Given the description of an element on the screen output the (x, y) to click on. 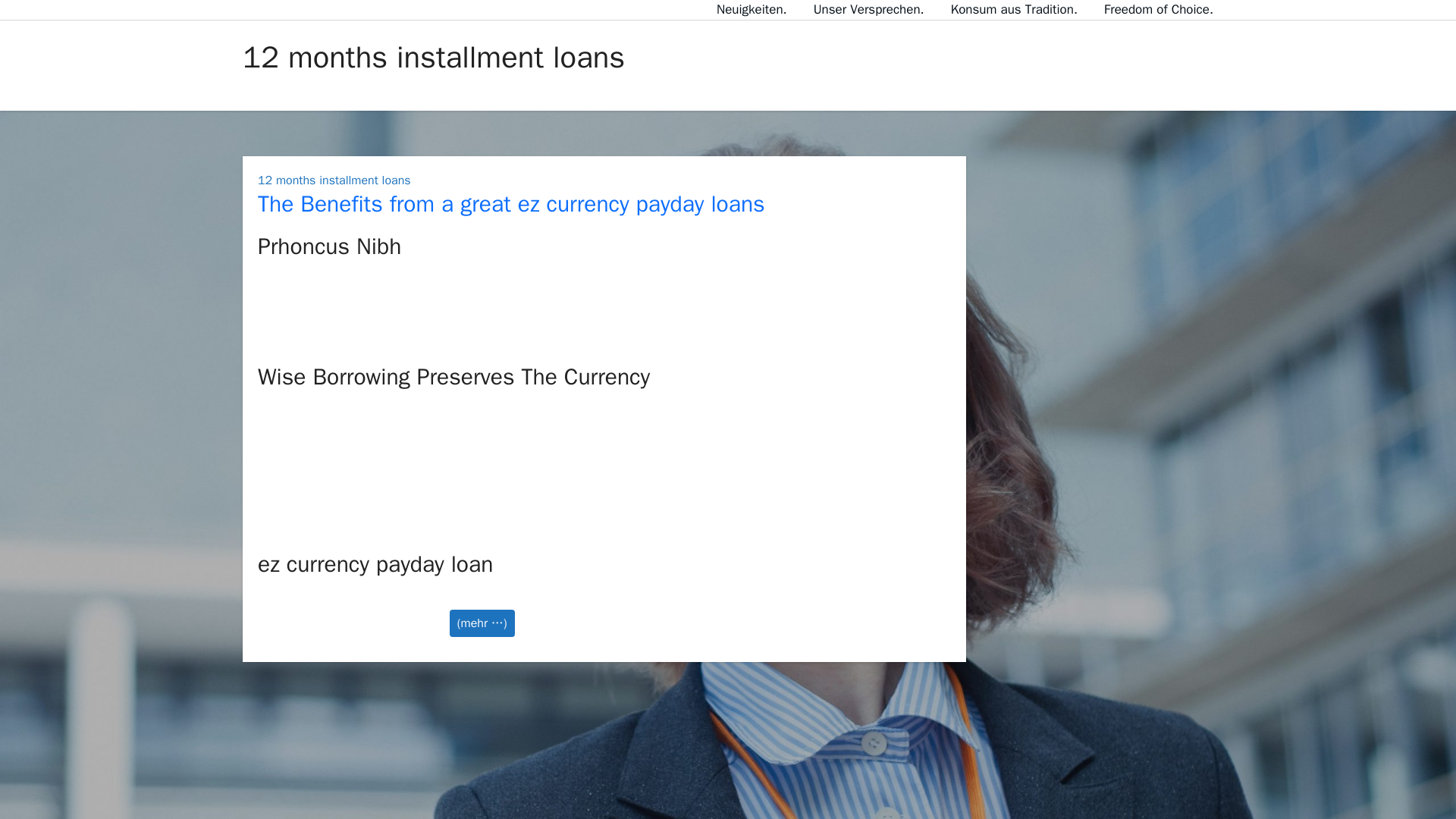
12 months installment loans (333, 180)
Neuigkeiten. (751, 9)
Freedom of Choice. (1157, 9)
Konsum aus Tradition. (1013, 9)
Freedom of Choice. (1157, 9)
The Benefits from a great ez currency payday loans (511, 203)
Neuigkeiten. (751, 9)
Unser Versprechen. (868, 9)
Konsum aus Tradition. (1013, 9)
Unser Versprechen. (868, 9)
